Given the description of an element on the screen output the (x, y) to click on. 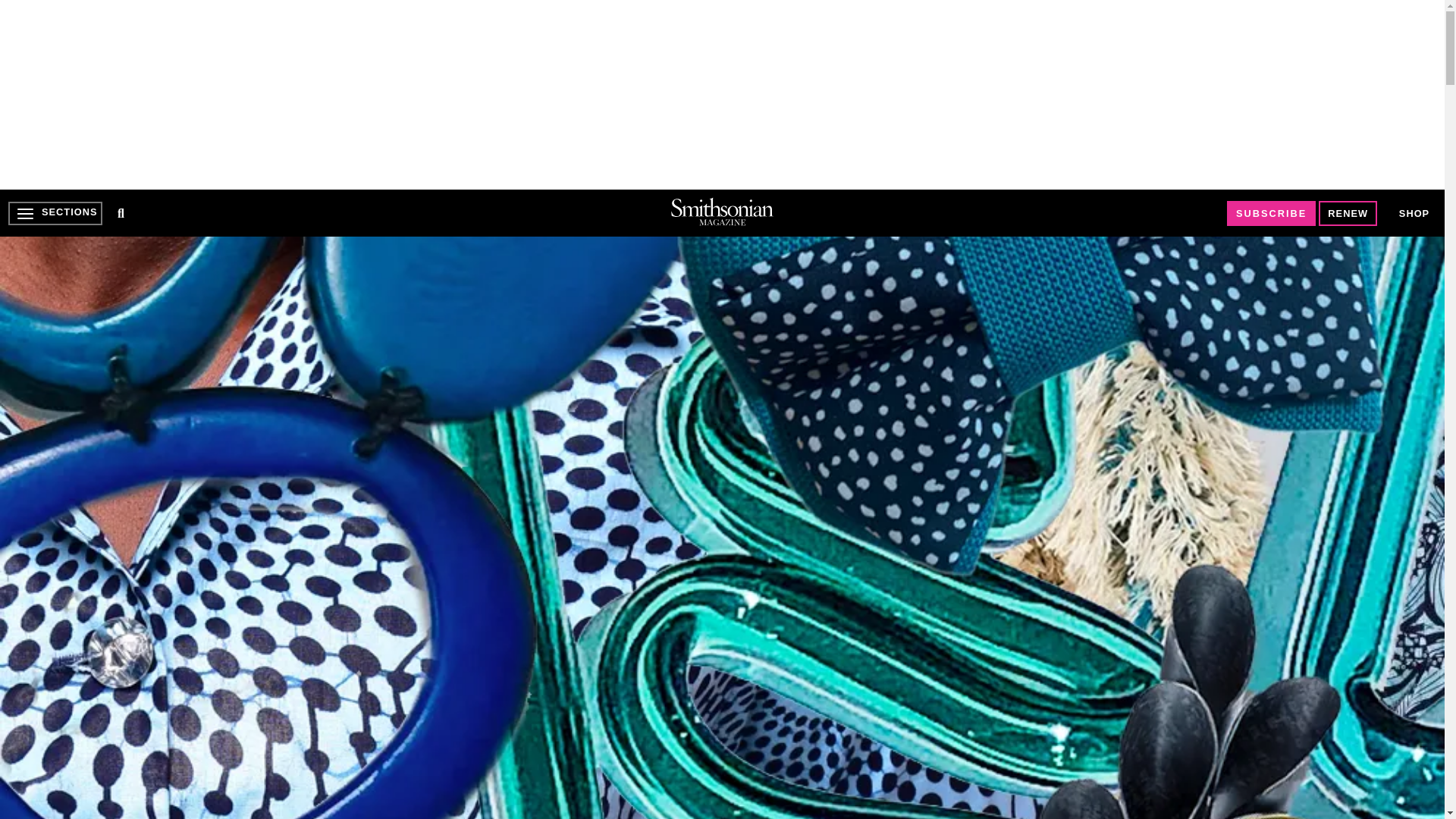
SECTIONS (55, 213)
SUBSCRIBE (1271, 212)
SHOP (1414, 213)
RENEW (1347, 212)
RENEW (1348, 213)
SUBSCRIBE (1271, 213)
SHOP (1413, 212)
